Given the description of an element on the screen output the (x, y) to click on. 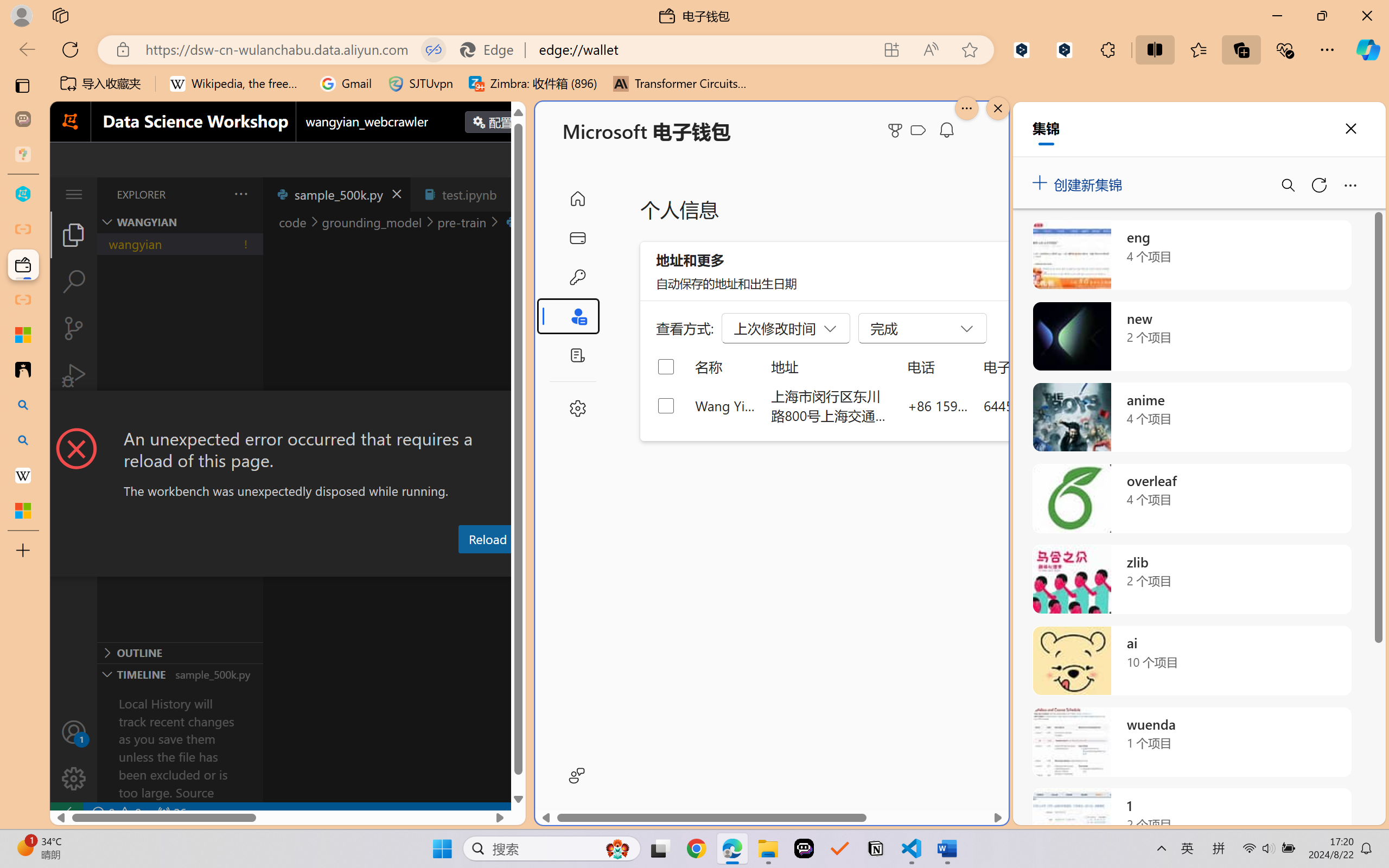
Adjust indents and spacing - Microsoft Support (22, 334)
Explorer (Ctrl+Shift+E) (73, 234)
No Problems (115, 812)
test.ipynb (468, 194)
Manage (73, 755)
Timeline Section (179, 673)
